Given the description of an element on the screen output the (x, y) to click on. 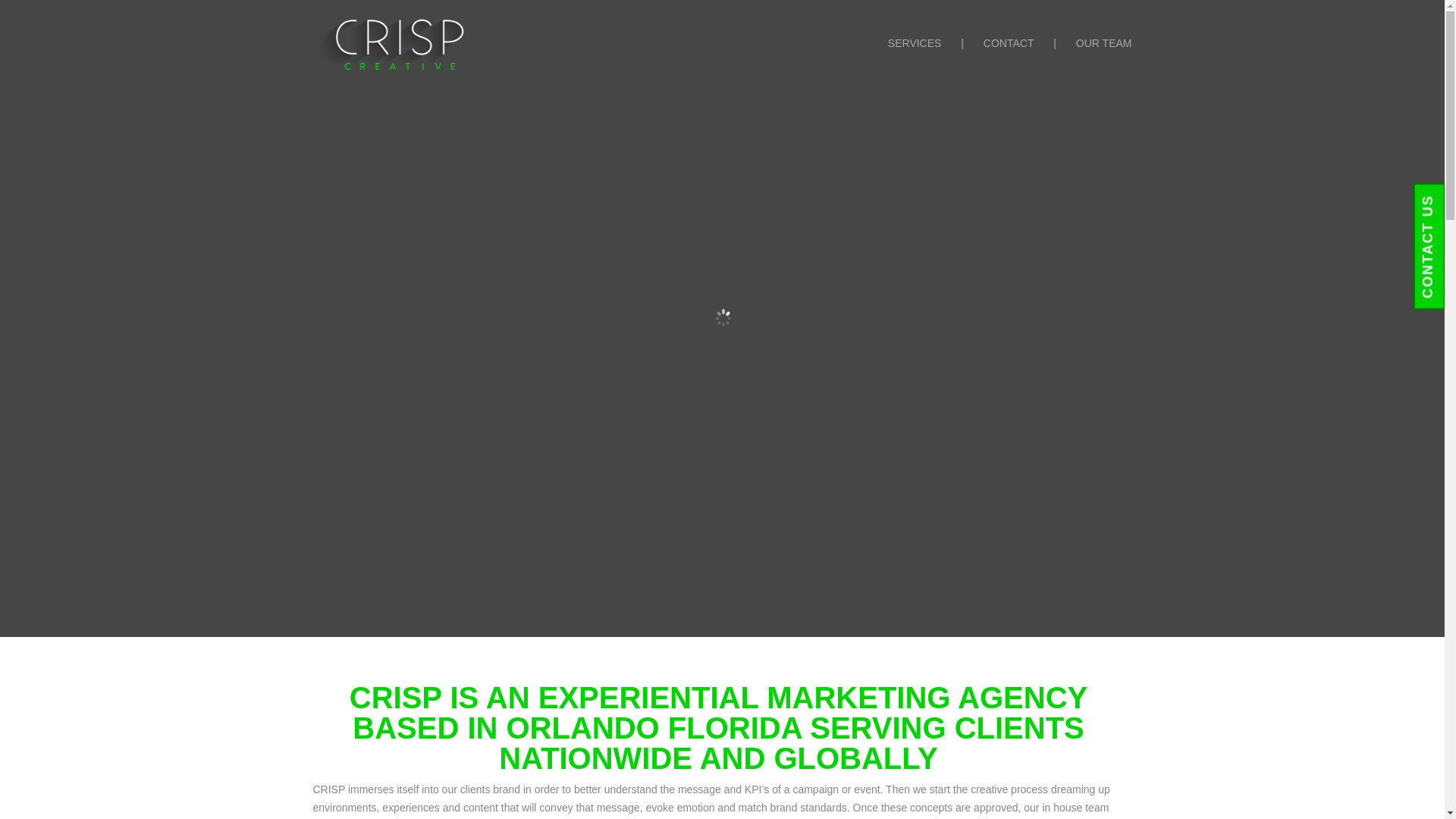
CONTACT (1008, 61)
OUR TEAM (1103, 61)
SERVICES (915, 61)
